Given the description of an element on the screen output the (x, y) to click on. 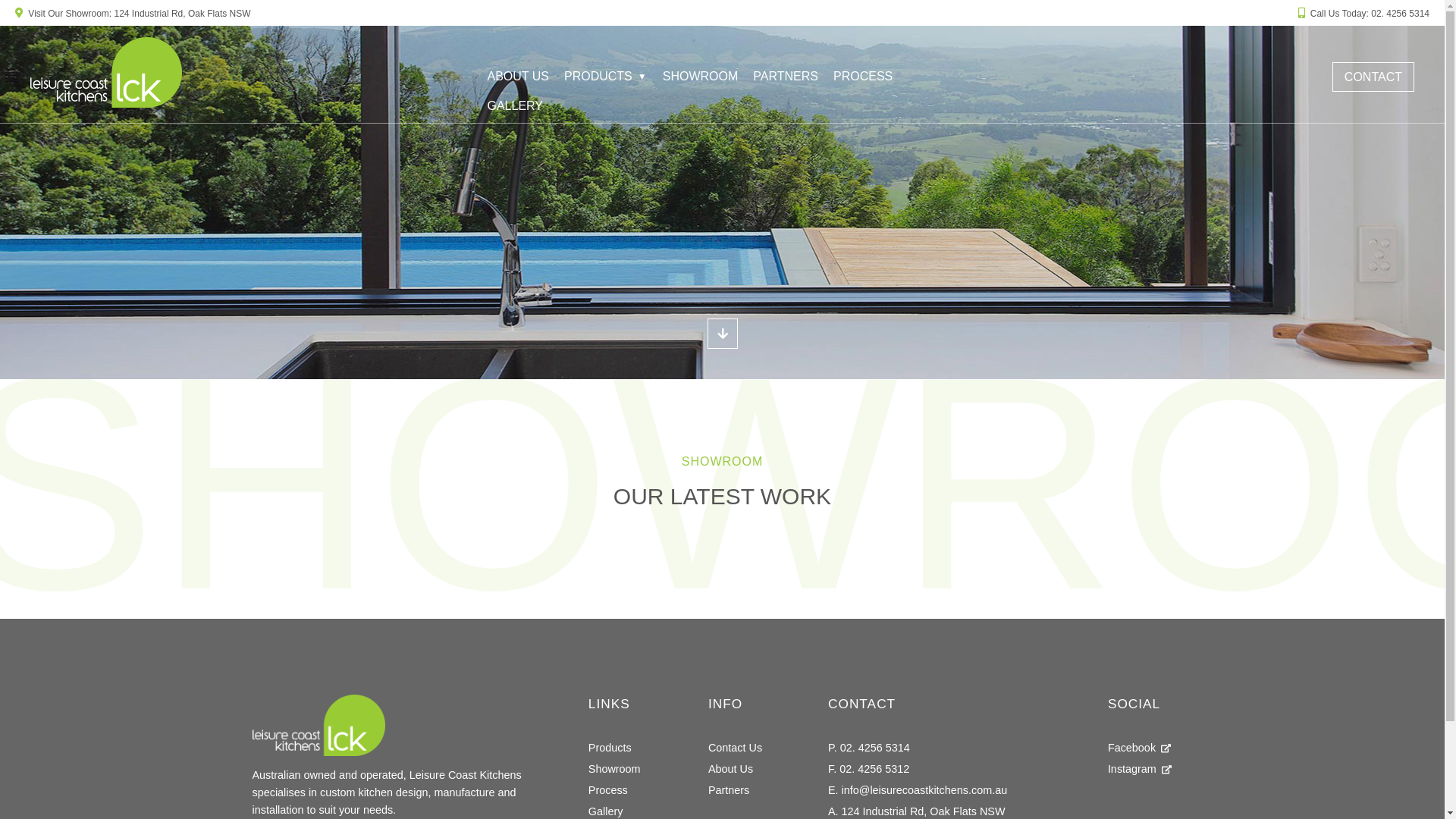
PARTNERS Element type: text (785, 76)
ABOUT US Element type: text (517, 76)
02. 4256 5314 Element type: text (1400, 13)
About Us Element type: text (730, 768)
PROCESS Element type: text (862, 76)
PRODUCTS Element type: text (605, 76)
Instagram Element type: text (1139, 768)
Gallery Element type: text (605, 811)
Facebook Element type: text (1138, 747)
Process Element type: text (607, 790)
02. 4256 5314 Element type: text (875, 747)
Showroom Element type: text (614, 768)
SHOWROOM Element type: text (700, 76)
Partners Element type: text (728, 790)
GALLERY Element type: text (514, 106)
Products Element type: text (609, 747)
CONTACT Element type: text (1373, 76)
info@leisurecoastkitchens.com.au Element type: text (924, 790)
Contact Us Element type: text (735, 747)
124 Industrial Rd, Oak Flats NSW Element type: text (182, 13)
